Given the description of an element on the screen output the (x, y) to click on. 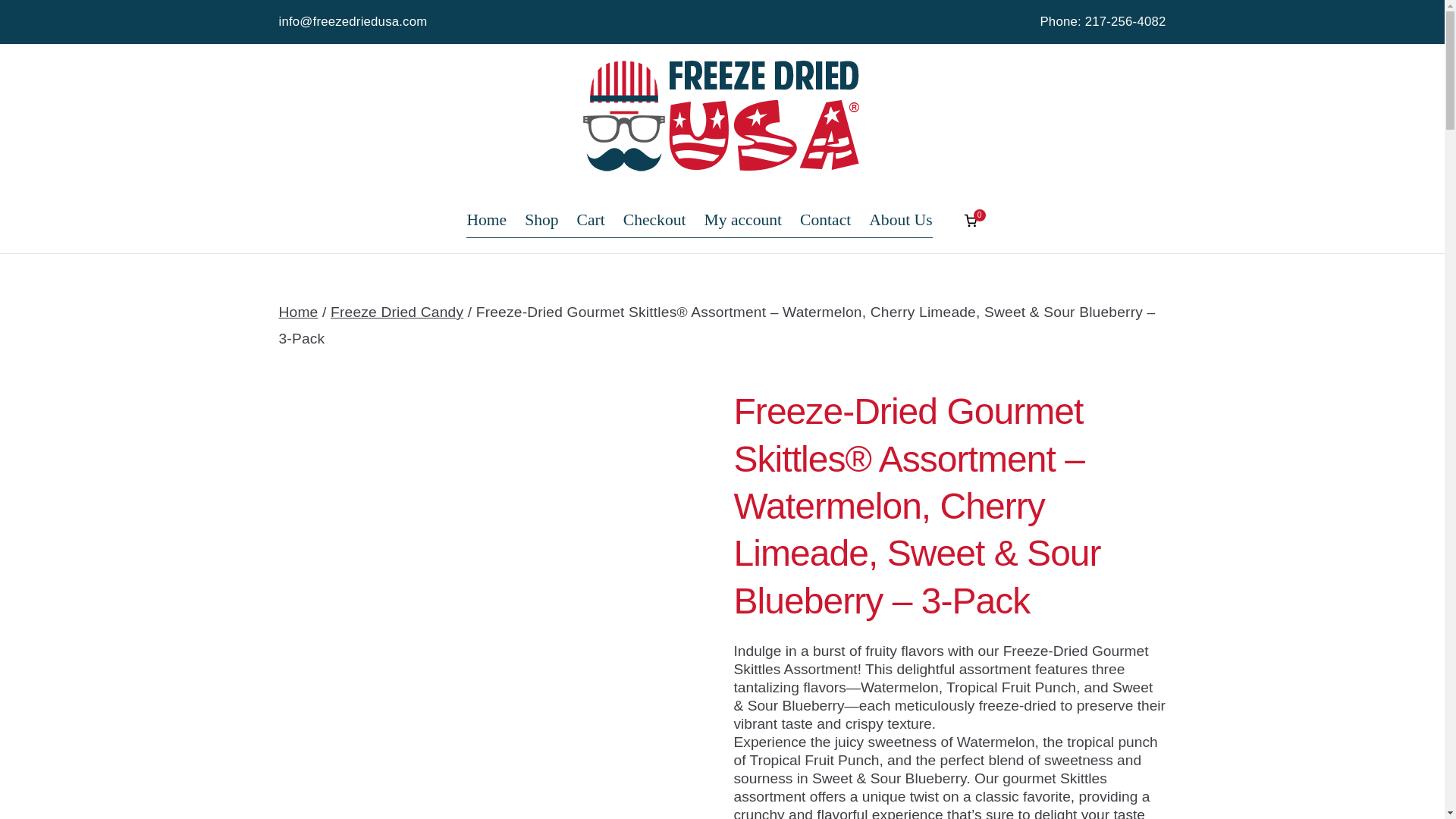
My account (743, 220)
Freeze Dried Candy (396, 311)
0 (970, 220)
Home (298, 311)
Contact (824, 220)
Checkout (654, 220)
217-256-4082 (1125, 21)
Home (485, 220)
About Us (900, 220)
View your shopping cart (970, 220)
